Given the description of an element on the screen output the (x, y) to click on. 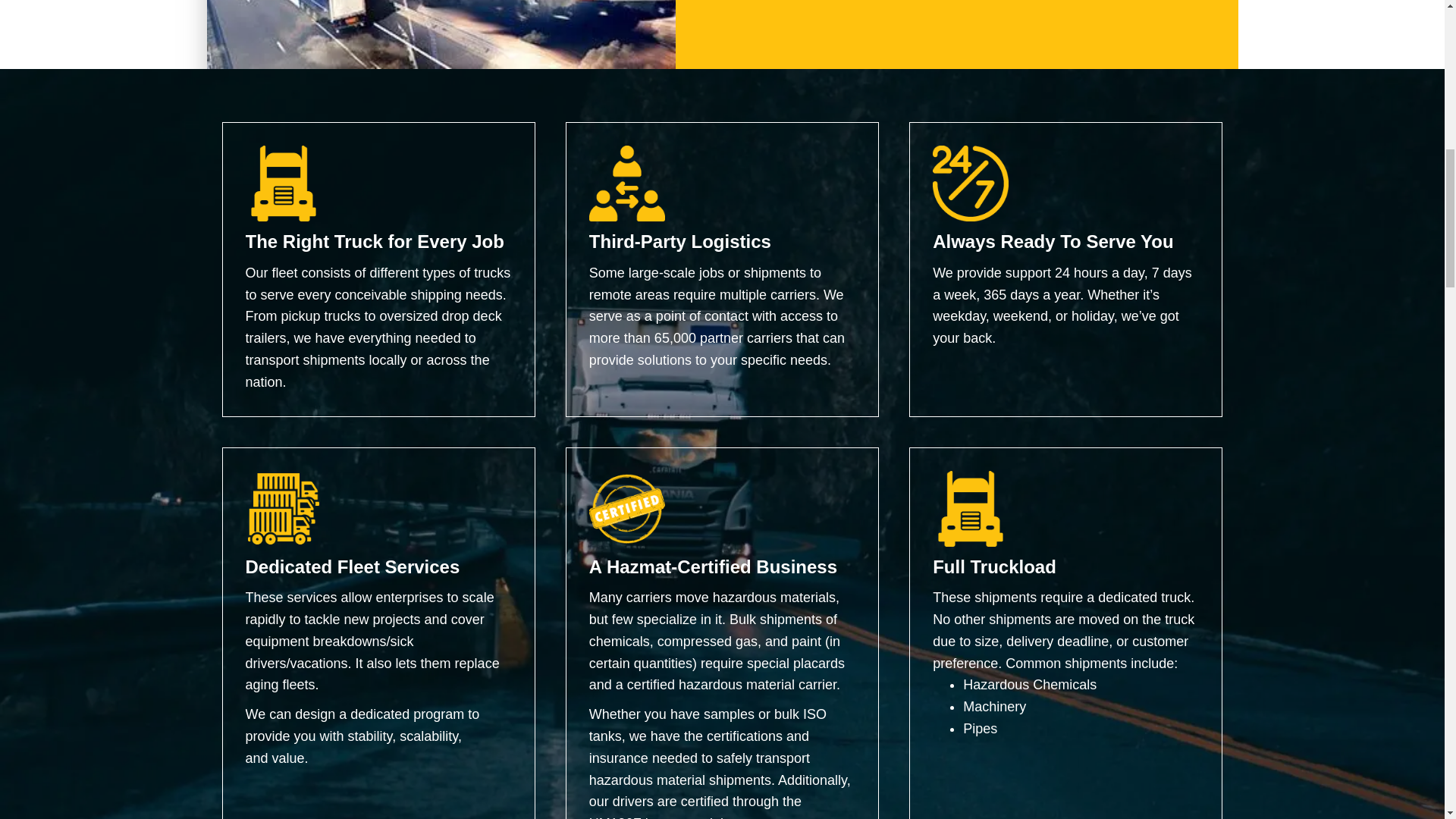
service01-p7ckaro7ord7nldgq1brdqvlnzte6vashbswvv16k0 (440, 34)
